Given the description of an element on the screen output the (x, y) to click on. 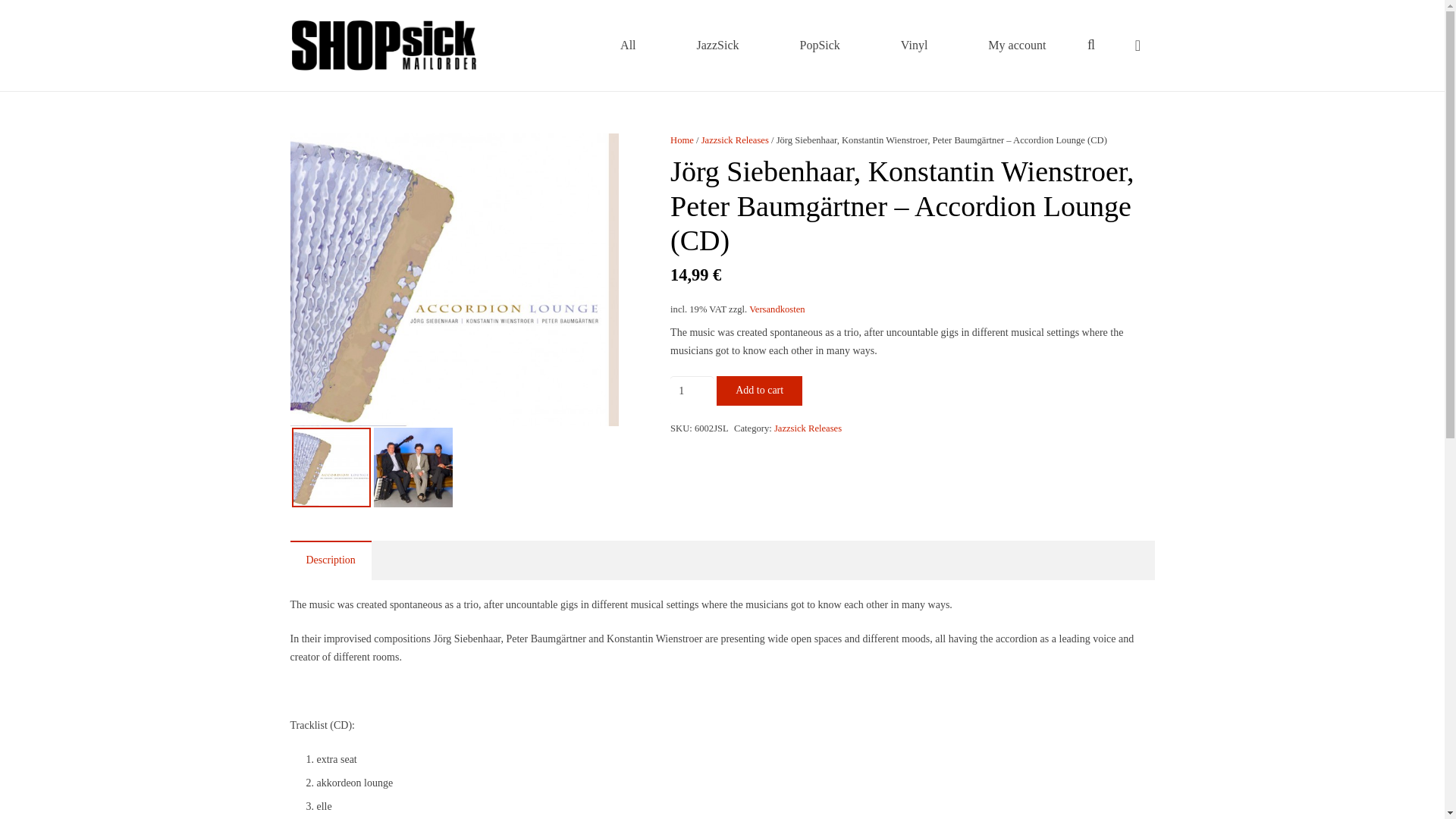
Add to cart (759, 390)
My account (1016, 45)
Vinyl (914, 45)
Versandkosten (777, 308)
PopSick (820, 45)
1 (691, 390)
Jazzsick Releases (807, 428)
Home (681, 140)
JazzSick (718, 45)
Description (330, 559)
Jazzsick Releases (734, 140)
